Given the description of an element on the screen output the (x, y) to click on. 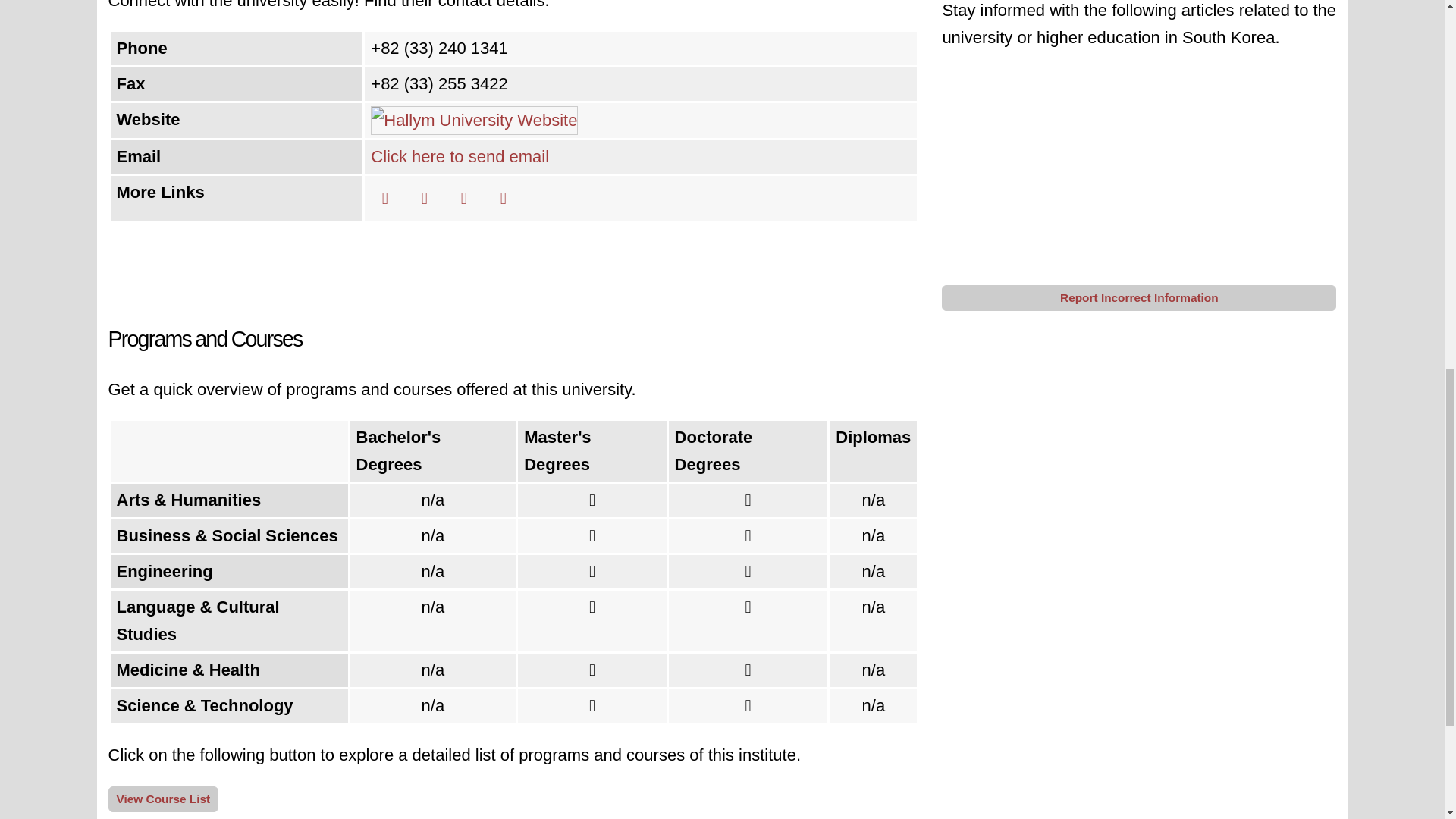
Hallym University Website (474, 119)
View Course List (162, 799)
Report Incorrect Information (1139, 298)
Click here to send email (459, 156)
Send an email to Hallym University (459, 156)
